Given the description of an element on the screen output the (x, y) to click on. 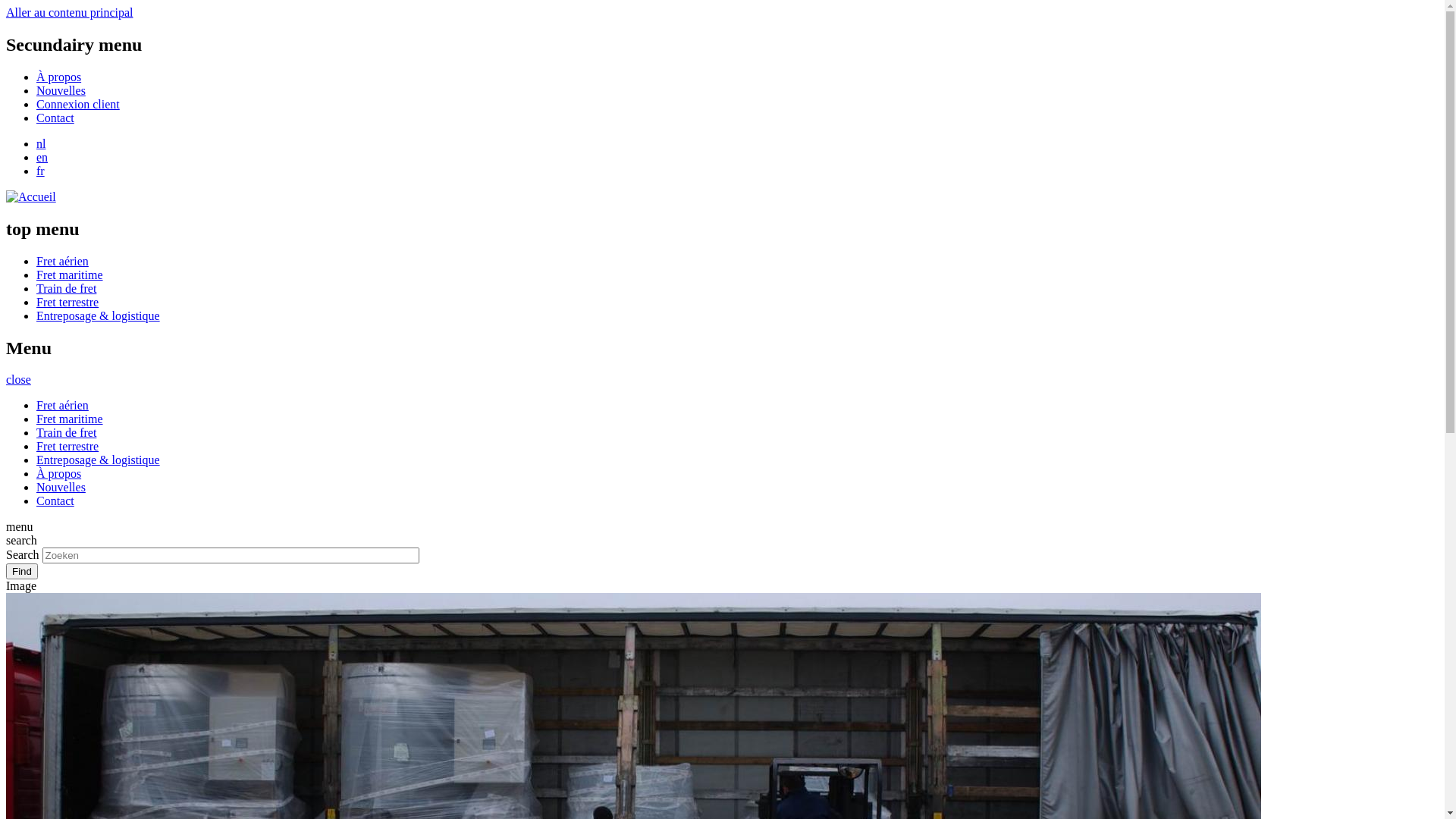
close Element type: text (18, 379)
Fret terrestre Element type: text (67, 301)
Connexion client Element type: text (77, 103)
Contact Element type: text (55, 500)
en Element type: text (41, 156)
Train de fret Element type: text (66, 432)
Entreposage & logistique Element type: text (98, 315)
Accueil Element type: hover (31, 196)
Entreposage & logistique Element type: text (98, 459)
Aller au contenu principal Element type: text (69, 12)
Fret terrestre Element type: text (67, 445)
Fret maritime Element type: text (69, 418)
Fret maritime Element type: text (69, 274)
Nouvelles Element type: text (60, 486)
Find Element type: text (21, 571)
nl Element type: text (40, 143)
Train de fret Element type: text (66, 288)
fr Element type: text (40, 170)
Contact Element type: text (55, 117)
Nouvelles Element type: text (60, 90)
